Given the description of an element on the screen output the (x, y) to click on. 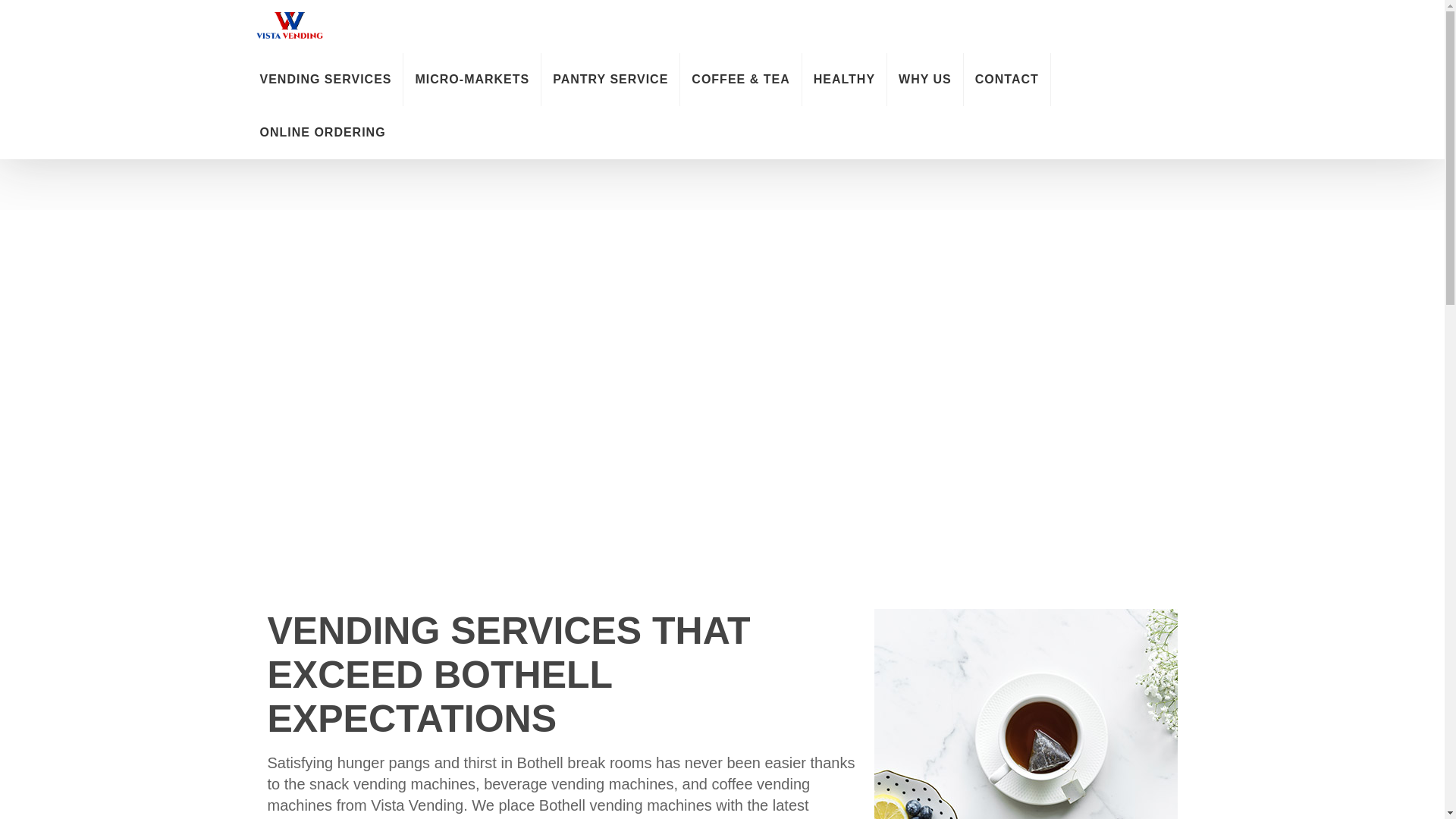
VENDING SERVICES (325, 79)
MICRO-MARKETS (471, 79)
PANTRY SERVICE (610, 79)
HEALTHY (844, 79)
ONLINE ORDERING (322, 132)
CONTACT (1006, 79)
WHY US (924, 79)
